Given the description of an element on the screen output the (x, y) to click on. 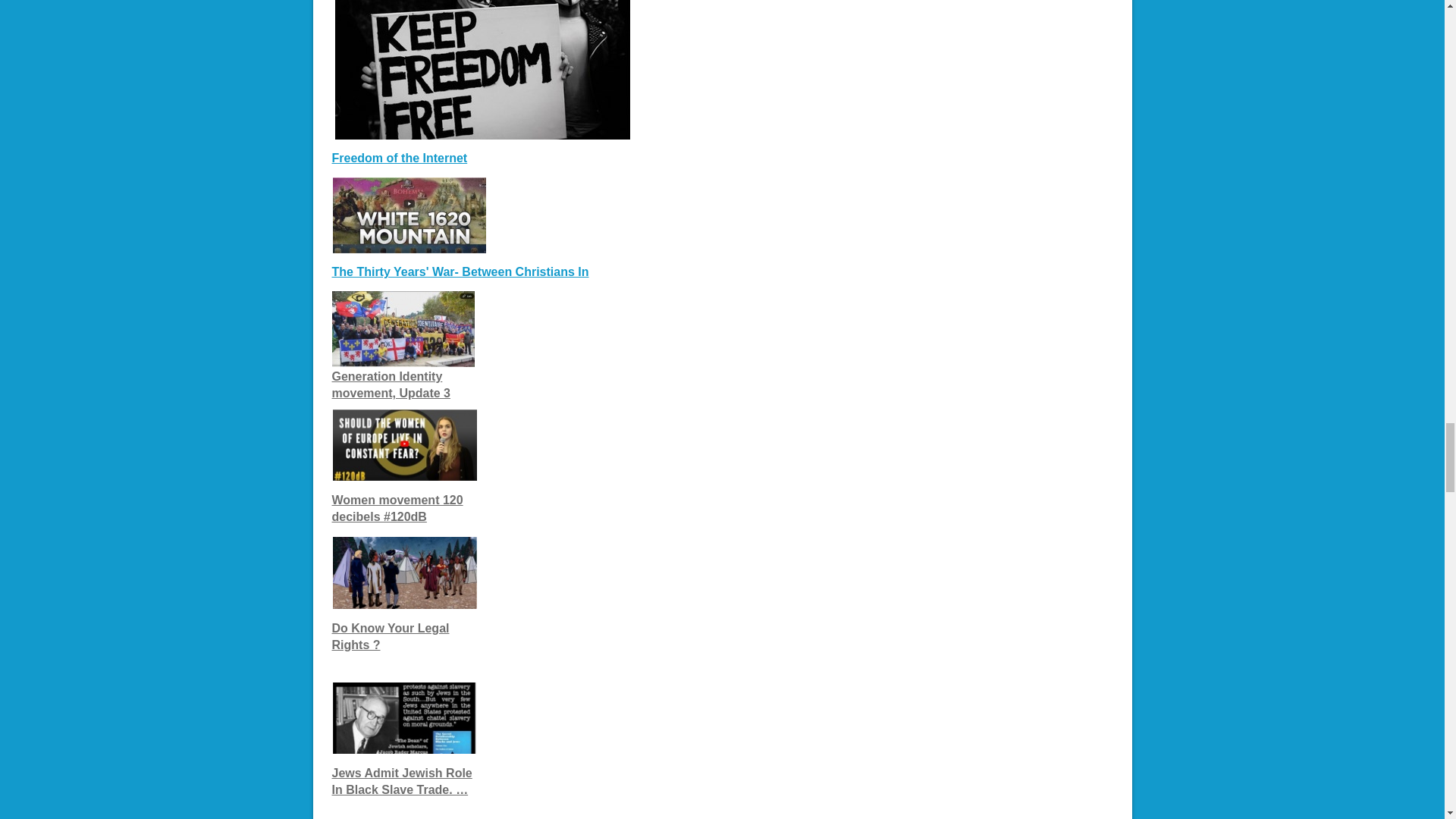
Jews Admit Jewish Role In Black Slave Trade. Update 2 (401, 781)
The Thirty Years' War- Between Christians In Europe (460, 271)
Generation Identity, Update 3 (390, 384)
Freedom of the Internet (399, 157)
